Given the description of an element on the screen output the (x, y) to click on. 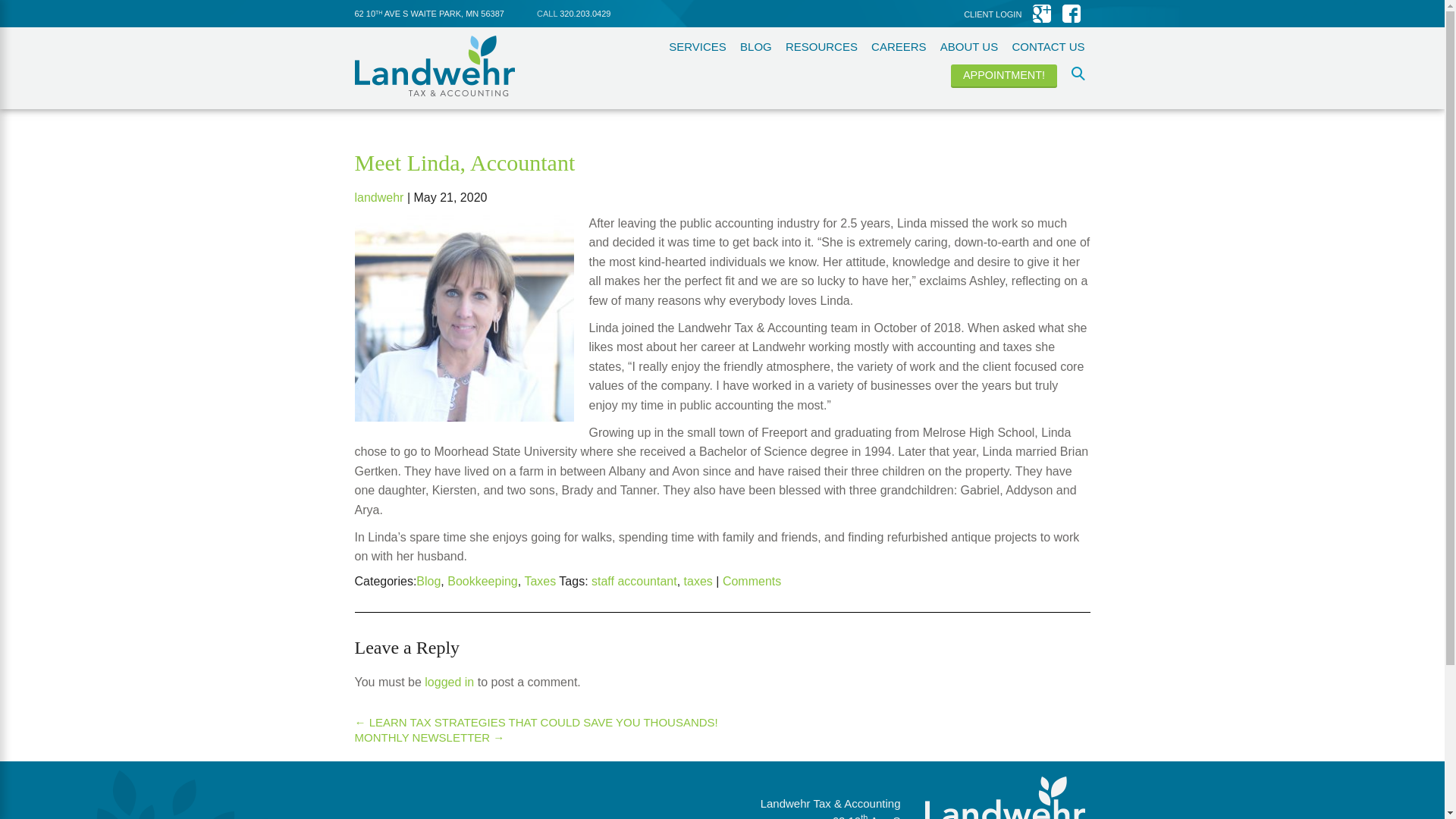
320.203.0429 (584, 13)
Posts by landwehr (379, 196)
ABOUT US (968, 46)
RESOURCES (821, 46)
CONTACT US (1047, 46)
BLOG (755, 46)
Landwehr Tax and Accounting (435, 66)
CAREERS (898, 46)
CLIENT LOGIN (992, 13)
Comments (751, 581)
